Given the description of an element on the screen output the (x, y) to click on. 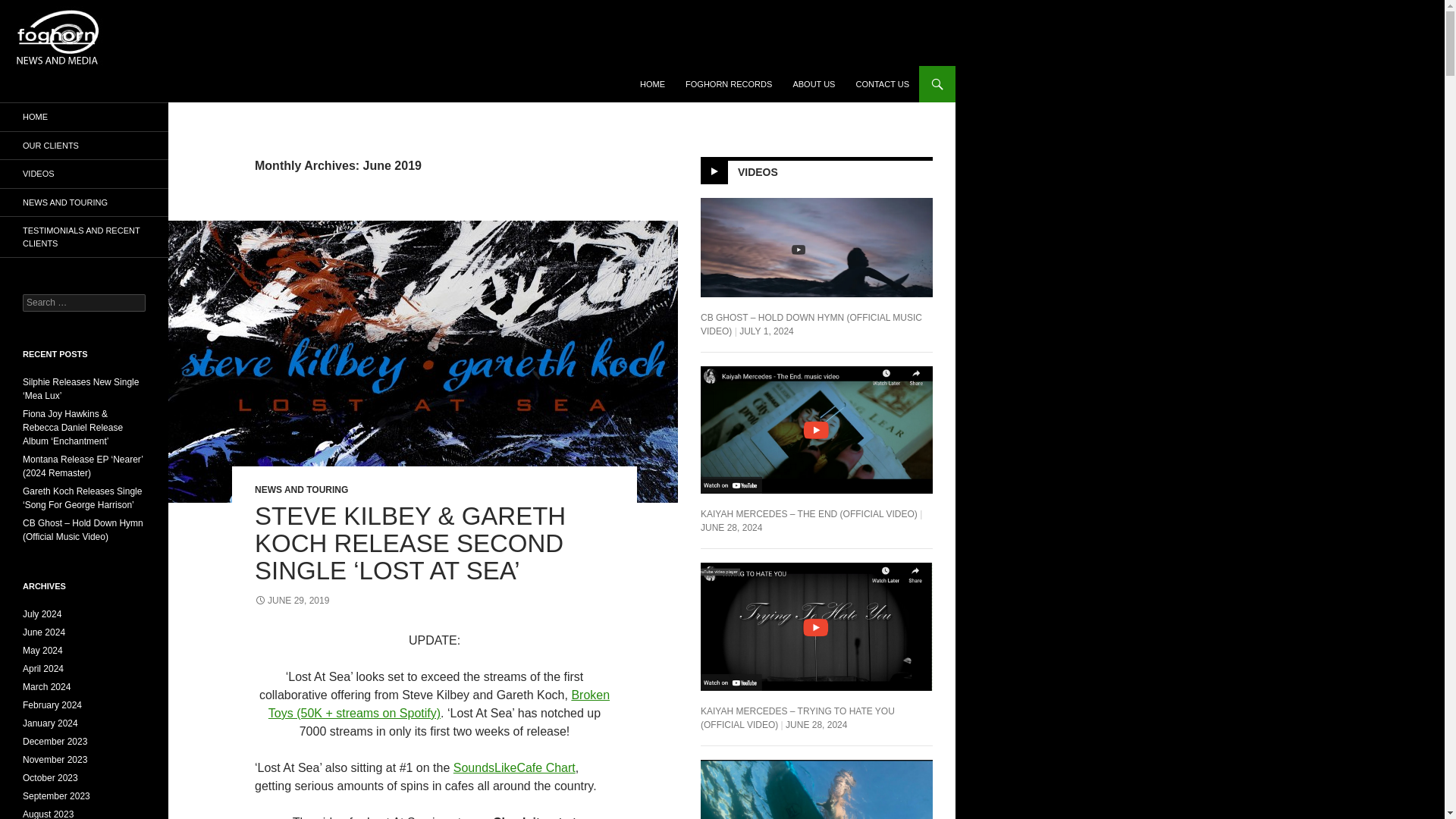
Search (23, 75)
NEWS AND TOURING (300, 489)
FOGHORN RECORDS (728, 84)
ABOUT US (813, 84)
SKIP TO CONTENT (676, 72)
SoundsLikeCafe Chart (513, 767)
HOME (652, 84)
Search for: (84, 303)
Home (652, 84)
CONTACT US (881, 84)
JUNE 29, 2019 (291, 600)
Foghorn News and Media (105, 83)
